Given the description of an element on the screen output the (x, y) to click on. 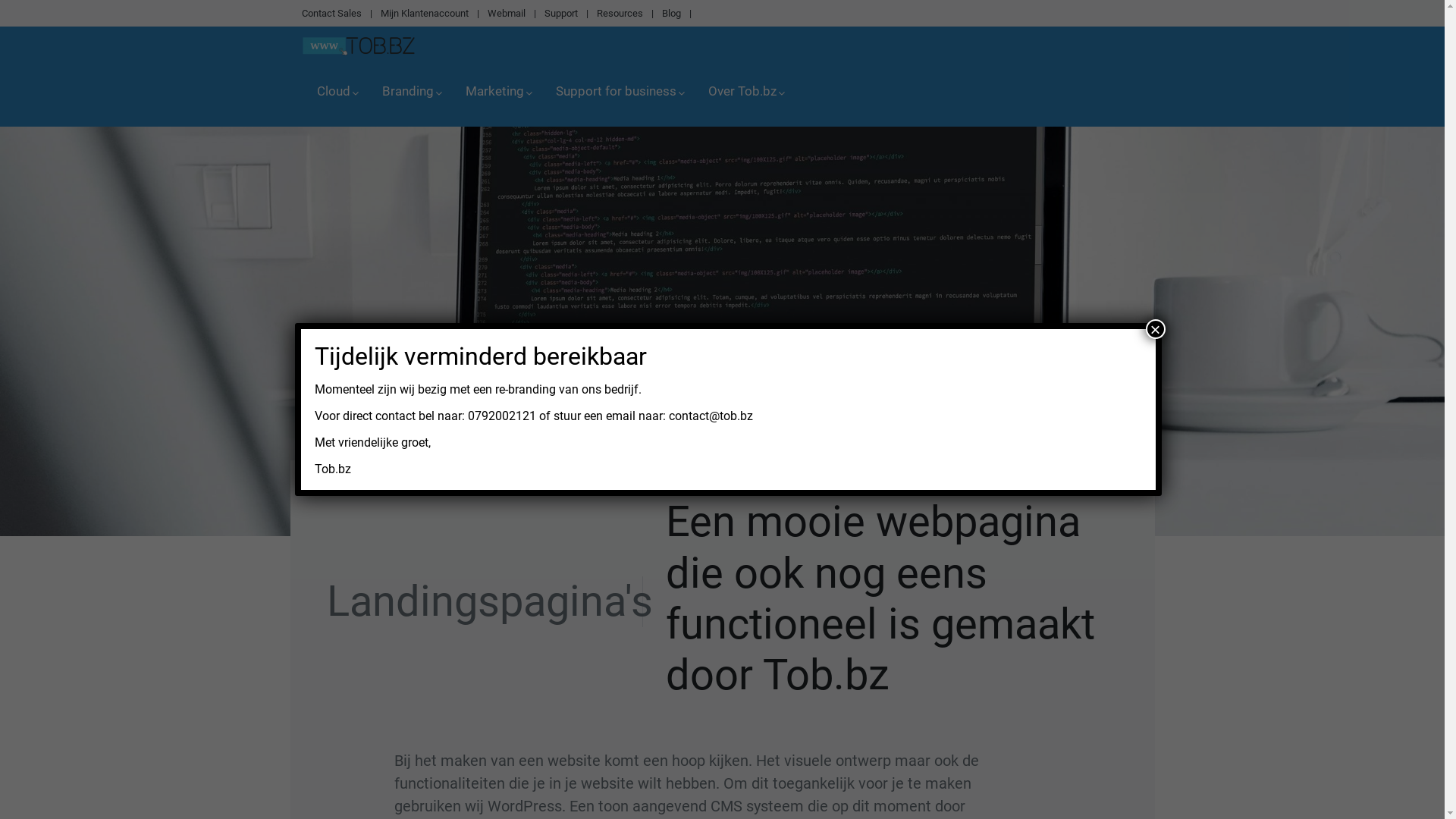
Support Element type: text (560, 12)
Over Tob.bz Element type: text (743, 92)
Contact Sales Element type: text (331, 12)
Resources Element type: text (619, 12)
Support for business Element type: text (615, 92)
Blog Element type: text (670, 12)
Mijn Klantenaccount Element type: text (424, 12)
Webmail Element type: text (505, 12)
Cloud Element type: text (334, 92)
Branding Element type: text (408, 92)
Marketing Element type: text (495, 92)
